Given the description of an element on the screen output the (x, y) to click on. 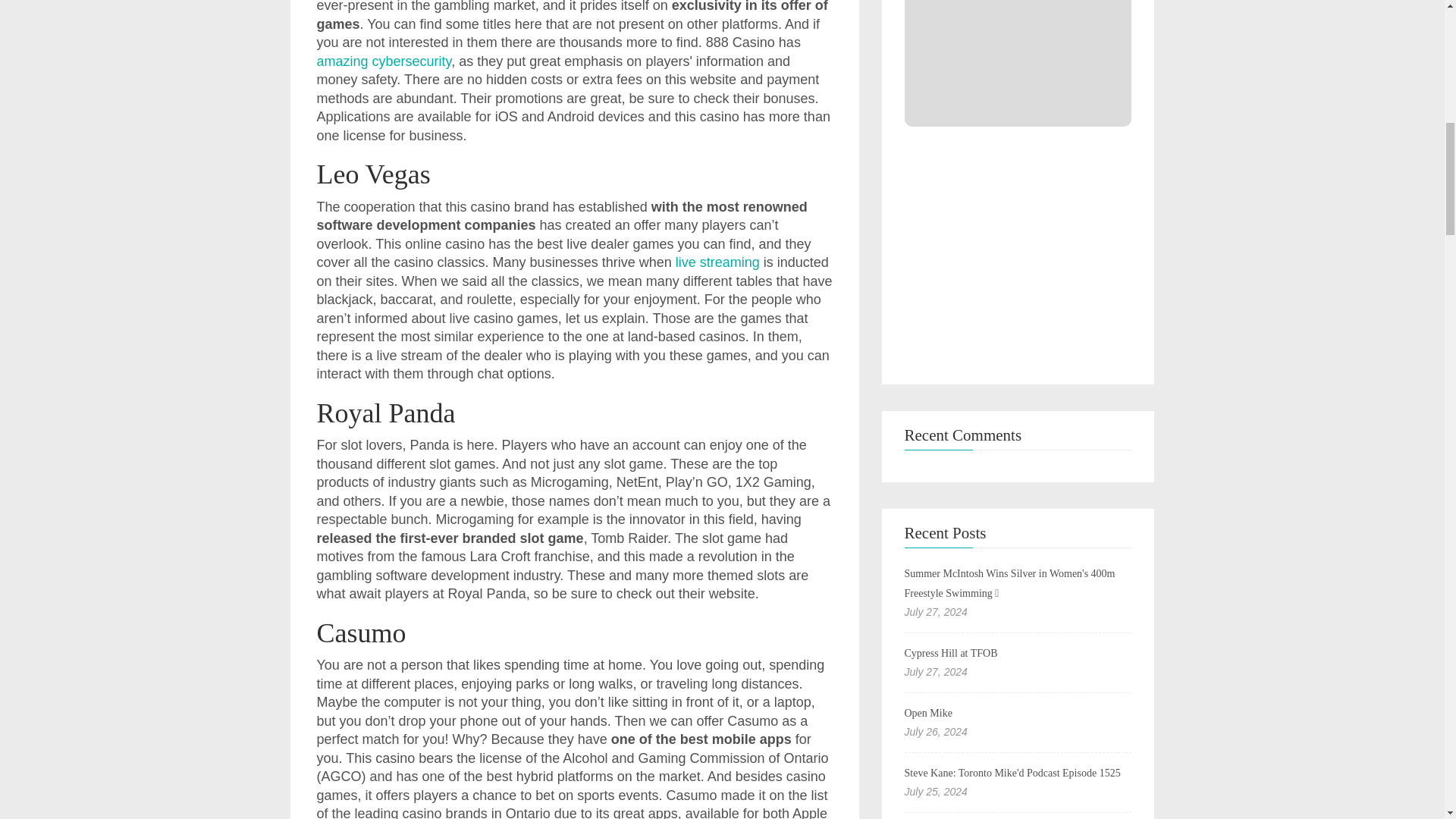
amazing cybersecurity (384, 61)
Steve Kane: Toronto Mike'd Podcast Episode 1525 (1011, 772)
Cypress Hill at TFOB (950, 653)
live streaming (717, 262)
Open Mike (928, 713)
